Given the description of an element on the screen output the (x, y) to click on. 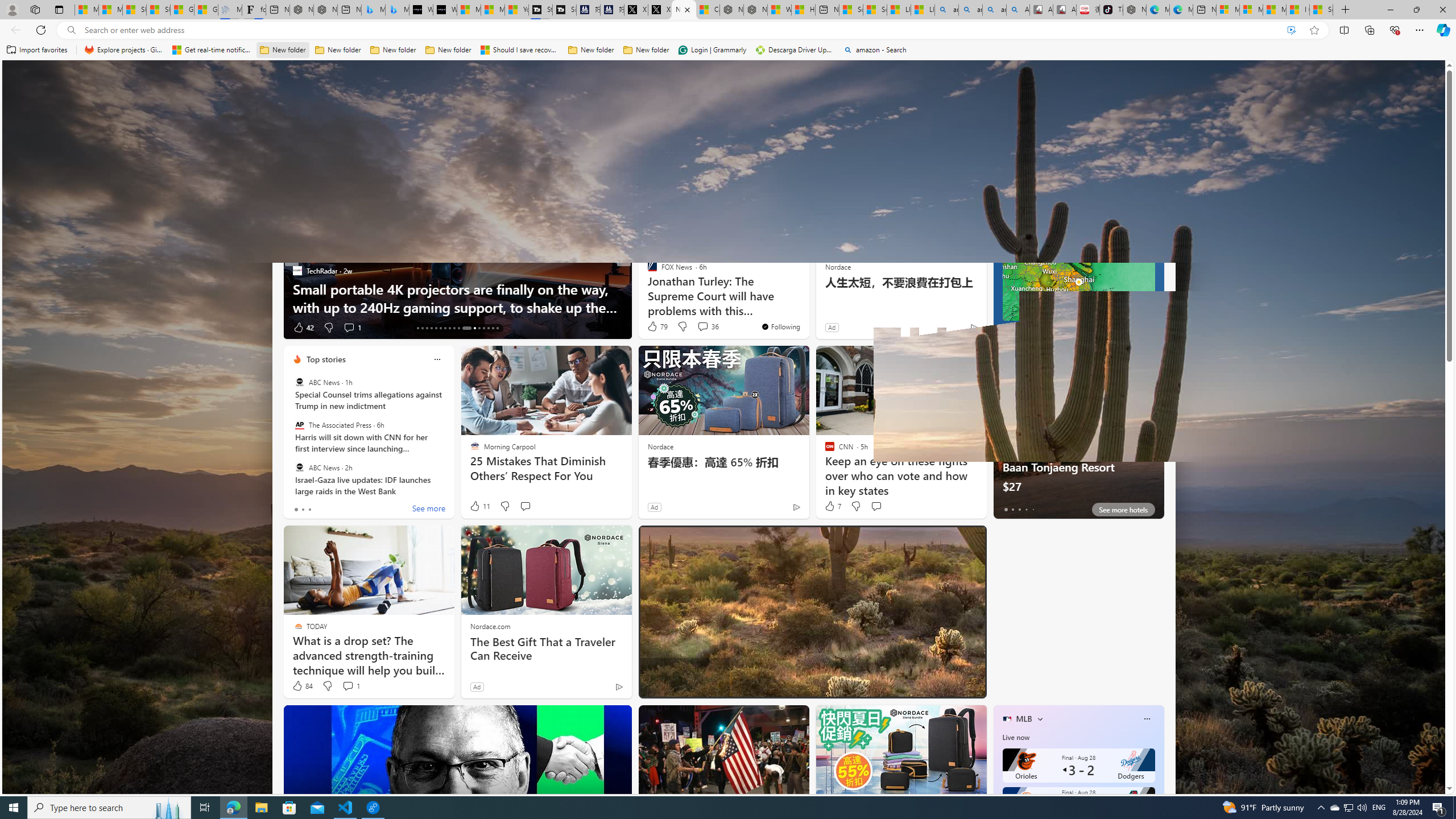
Learning (658, 151)
View comments 17 Comment (703, 327)
Travel (782, 151)
What's the best AI voice generator? - voice.ai (444, 9)
View comments 334 Comment (6, 327)
Traffic (816, 151)
Close (1442, 9)
42 Like (303, 327)
Open Copilot (925, 78)
Nordace - #1 Japanese Best-Seller - Siena Smart Backpack (325, 9)
AutomationID: tab-21 (454, 328)
